Given the description of an element on the screen output the (x, y) to click on. 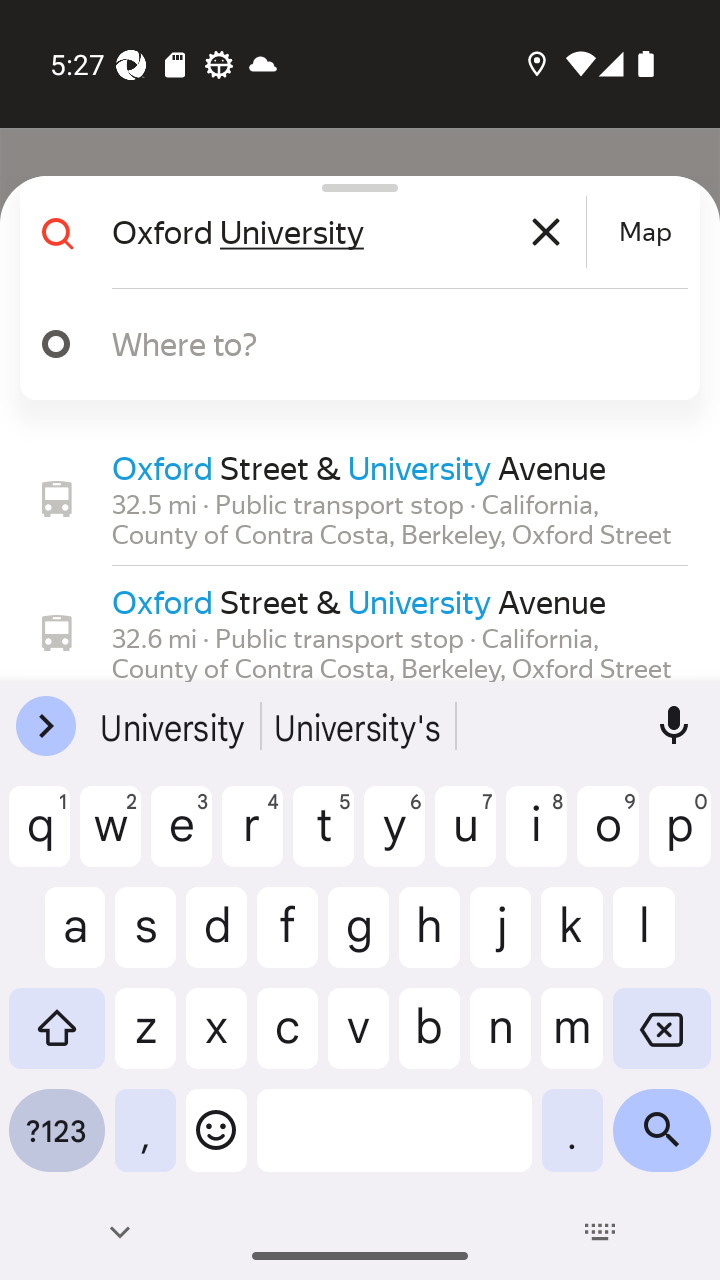
Oxford University Clear text box Map Map (352, 232)
Map (645, 232)
Clear text box (546, 231)
Oxford University (346, 232)
Where to? (352, 343)
Where to? (390, 343)
